Given the description of an element on the screen output the (x, y) to click on. 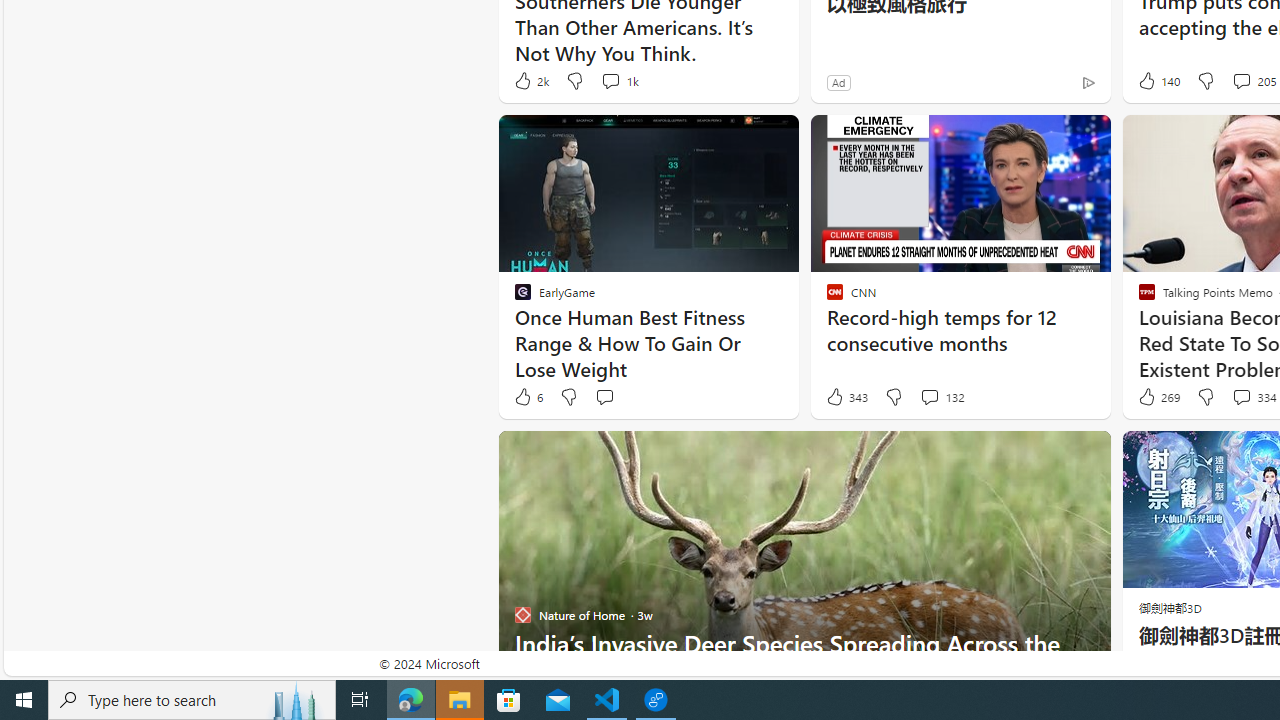
140 Like (1157, 80)
View comments 1k Comment (610, 80)
